Given the description of an element on the screen output the (x, y) to click on. 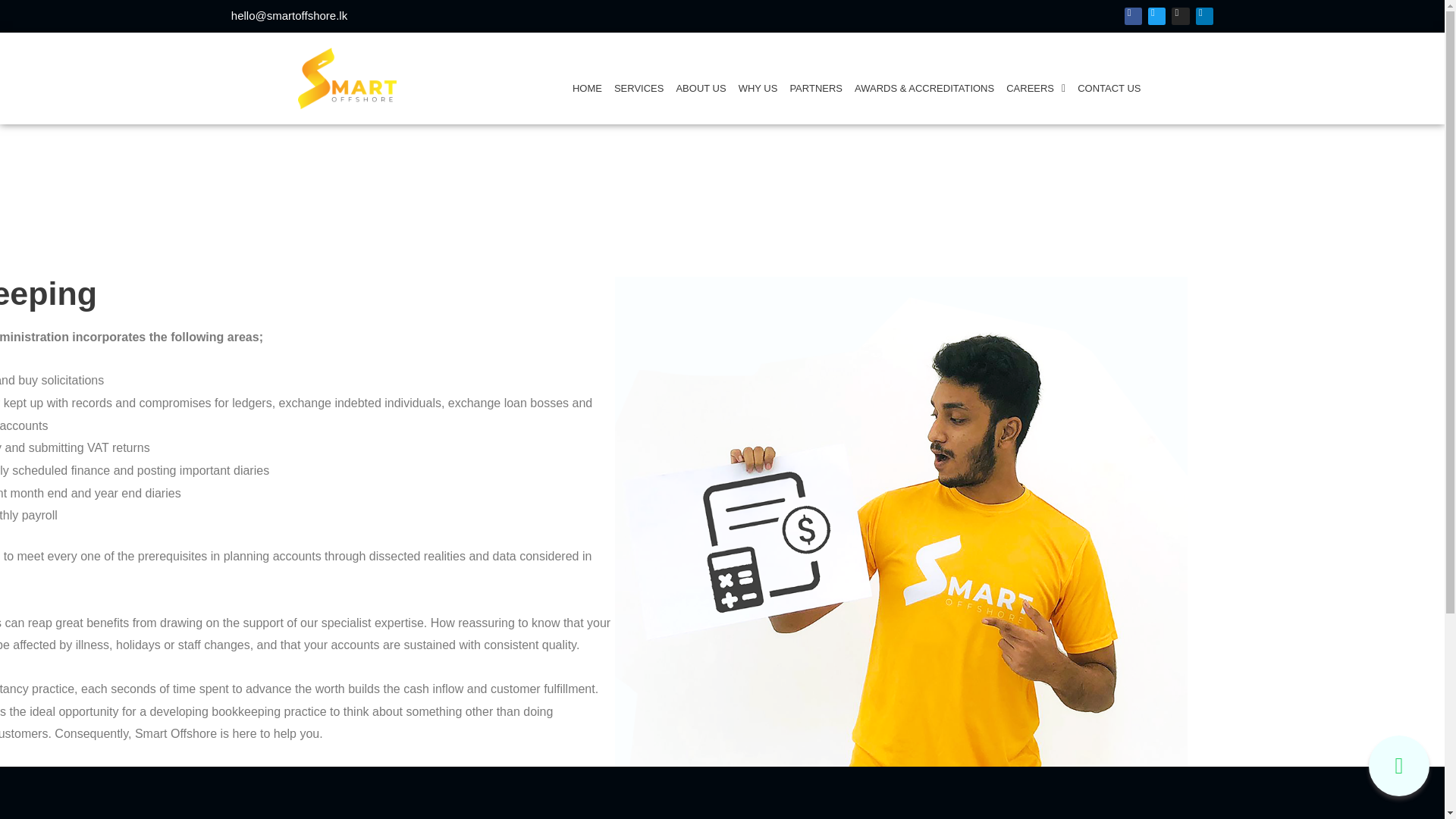
SERVICES (638, 87)
CONTACT US (1109, 87)
PARTNERS (815, 87)
WHY US (758, 87)
CAREERS (1035, 87)
ABOUT US (700, 87)
HOME (587, 87)
